Given the description of an element on the screen output the (x, y) to click on. 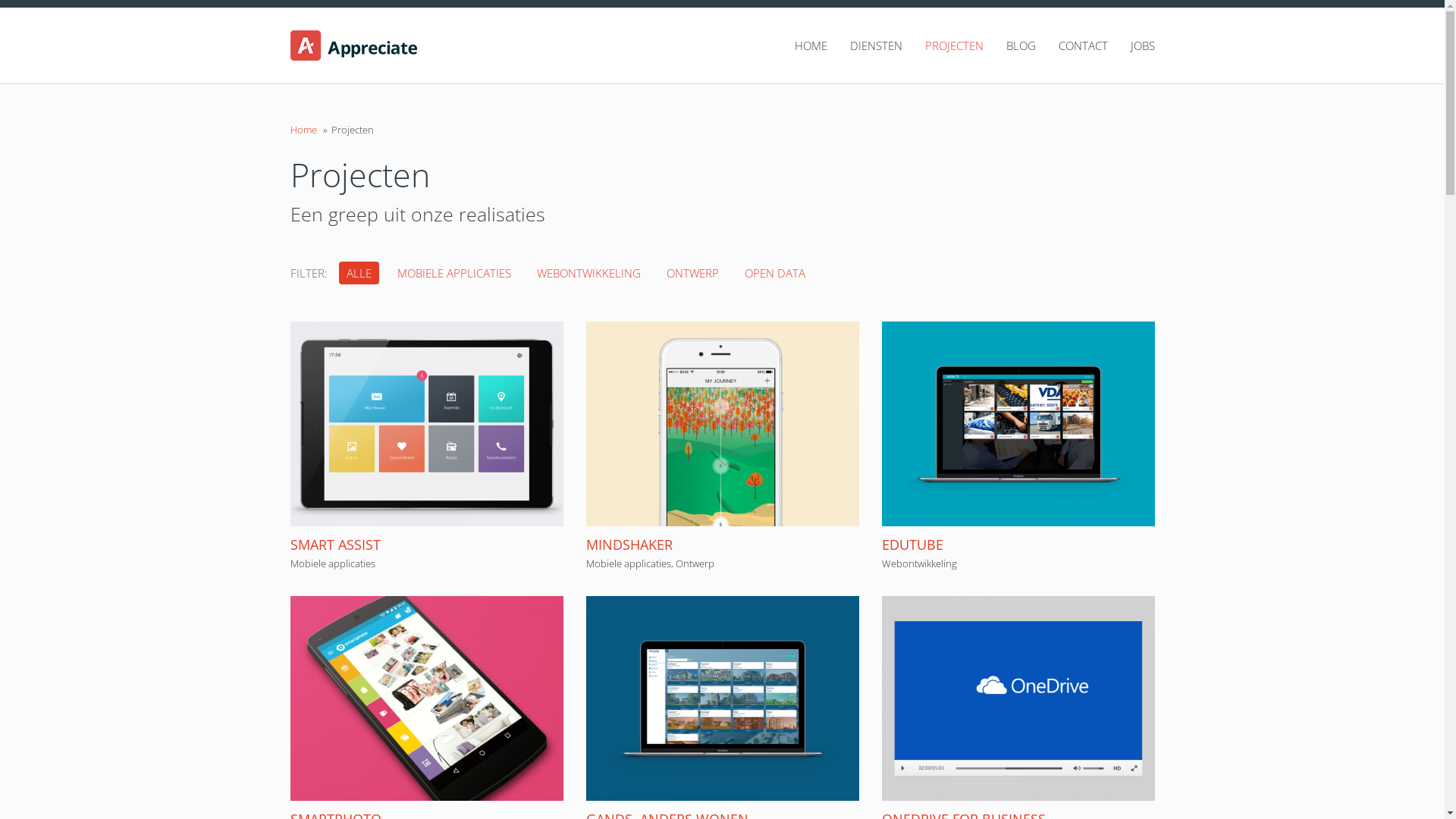
BLOG Element type: text (1008, 45)
Appreciate Element type: text (389, 45)
DIENSTEN Element type: text (863, 45)
Webontwikkeling Element type: text (918, 563)
ONTWERP Element type: text (691, 272)
OPEN DATA Element type: text (774, 272)
Home Element type: text (302, 129)
JOBS Element type: text (1130, 45)
SMART ASSIST Element type: text (334, 544)
Ontwerp Element type: text (693, 563)
PROJECTEN Element type: text (942, 45)
EDUTUBE Element type: text (911, 544)
Mobiele applicaties Element type: text (331, 563)
WEBONTWIKKELING Element type: text (588, 272)
Mobiele applicaties Element type: text (627, 563)
MOBIELE APPLICATIES Element type: text (453, 272)
MINDSHAKER Element type: text (628, 544)
ALLE Element type: text (358, 272)
HOME Element type: text (799, 45)
CONTACT Element type: text (1071, 45)
